Given the description of an element on the screen output the (x, y) to click on. 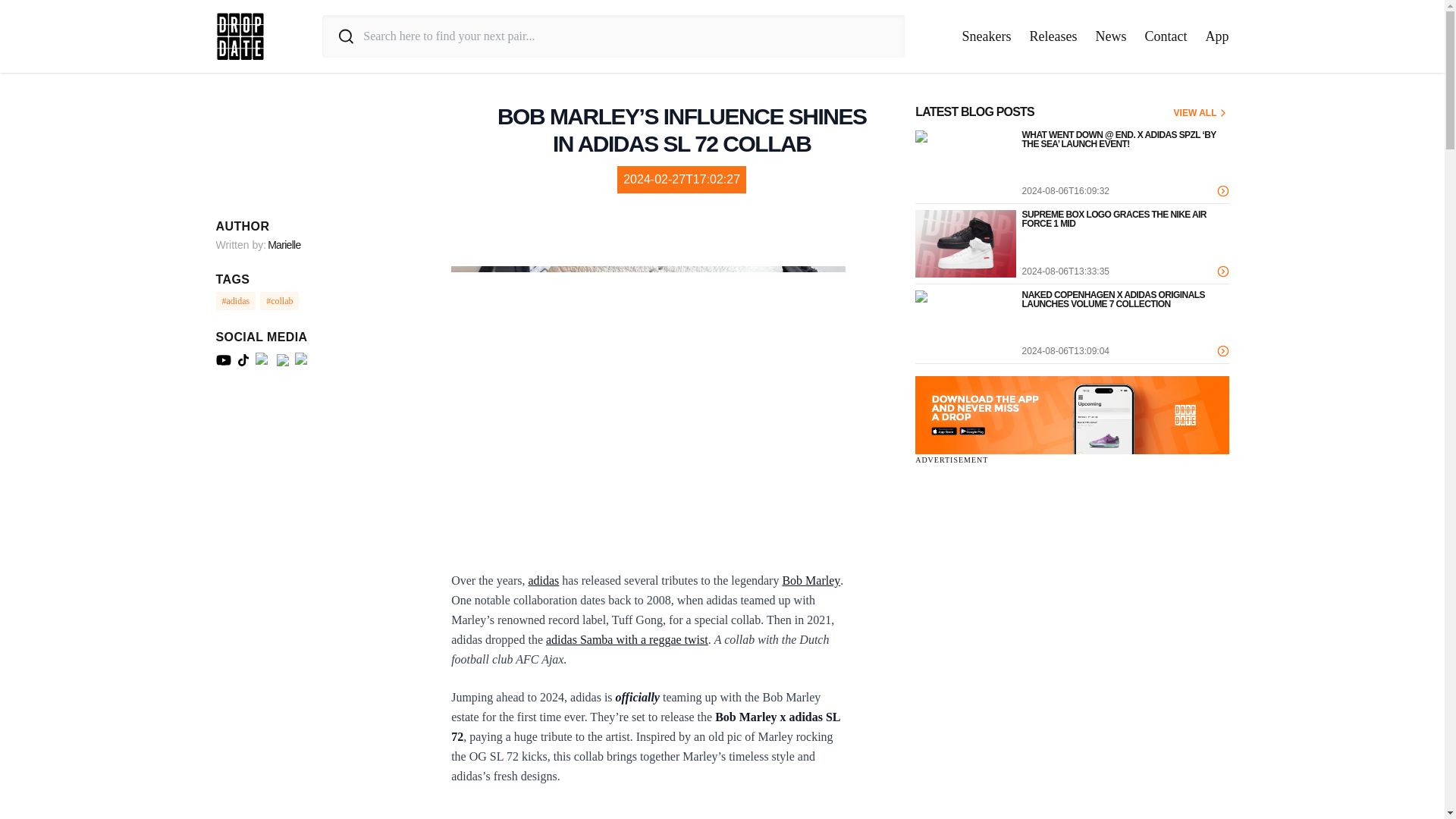
Bob Marley (810, 580)
adidas Samba with a reggae twist (626, 639)
Contact (1166, 36)
News (1109, 36)
App (1216, 36)
Sneakers (986, 36)
VIEW ALL (1200, 112)
Releases (1053, 36)
adidas (543, 580)
